Given the description of an element on the screen output the (x, y) to click on. 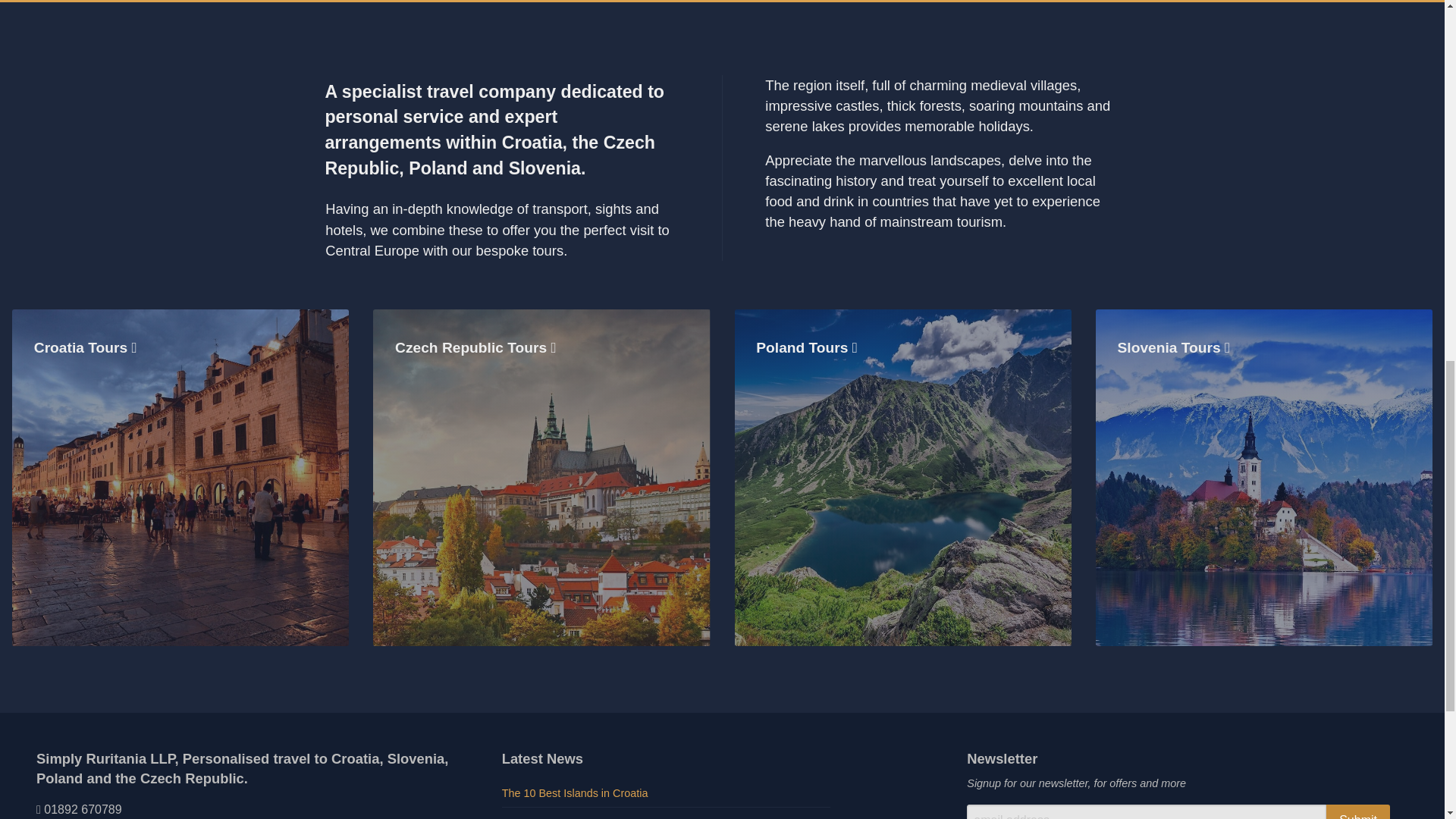
Submit (1358, 811)
The 10 Best Islands in Croatia (665, 794)
Submit (1358, 811)
The 10 Best Castles in Poland (665, 815)
